Given the description of an element on the screen output the (x, y) to click on. 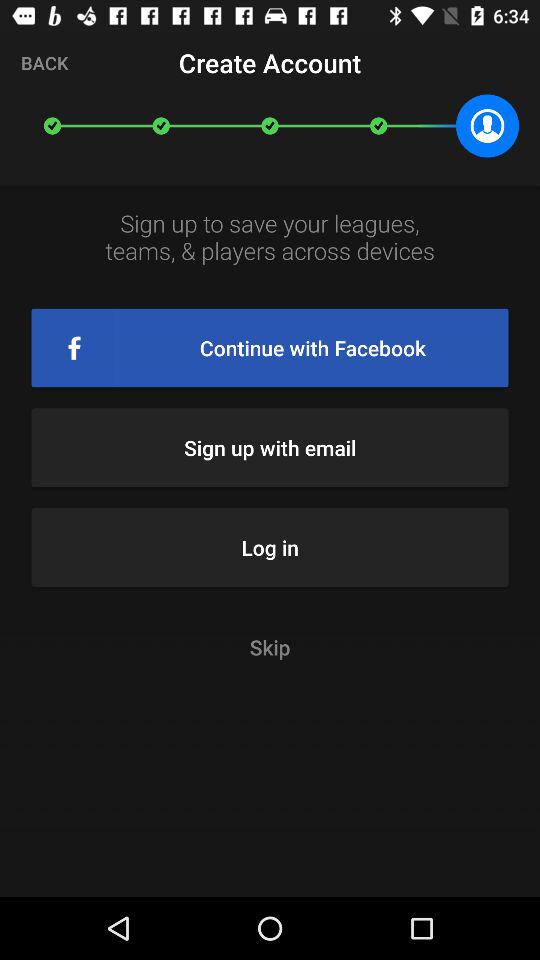
launch icon at the top left corner (44, 62)
